Given the description of an element on the screen output the (x, y) to click on. 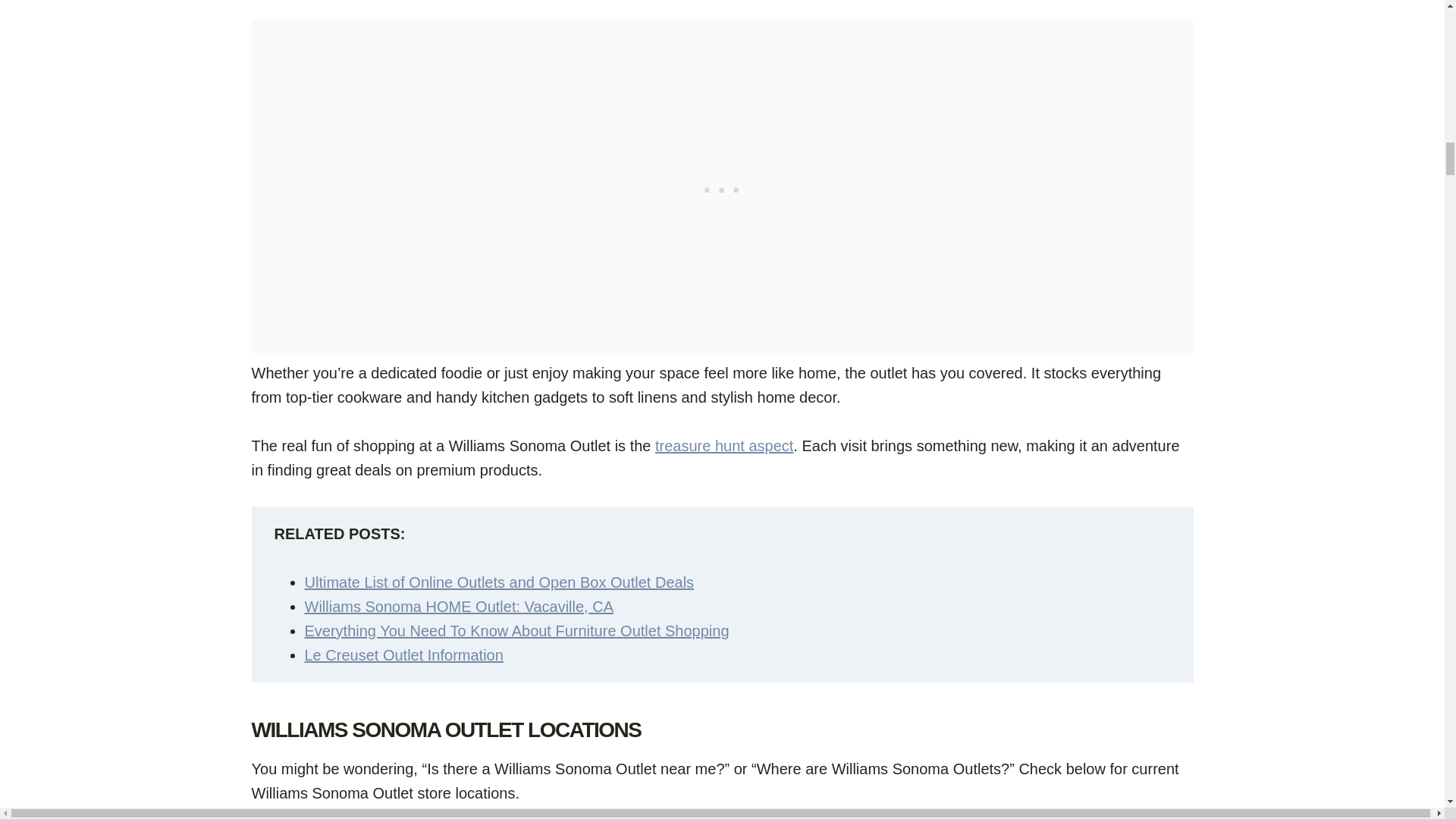
treasure hunt aspect (724, 445)
Ultimate List of Online Outlets and Open Box Outlet Deals (499, 582)
Everything You Need To Know About Furniture Outlet Shopping (516, 630)
Williams Sonoma HOME Outlet: Vacaville, CA (459, 606)
Le Creuset Outlet Information (403, 655)
